Given the description of an element on the screen output the (x, y) to click on. 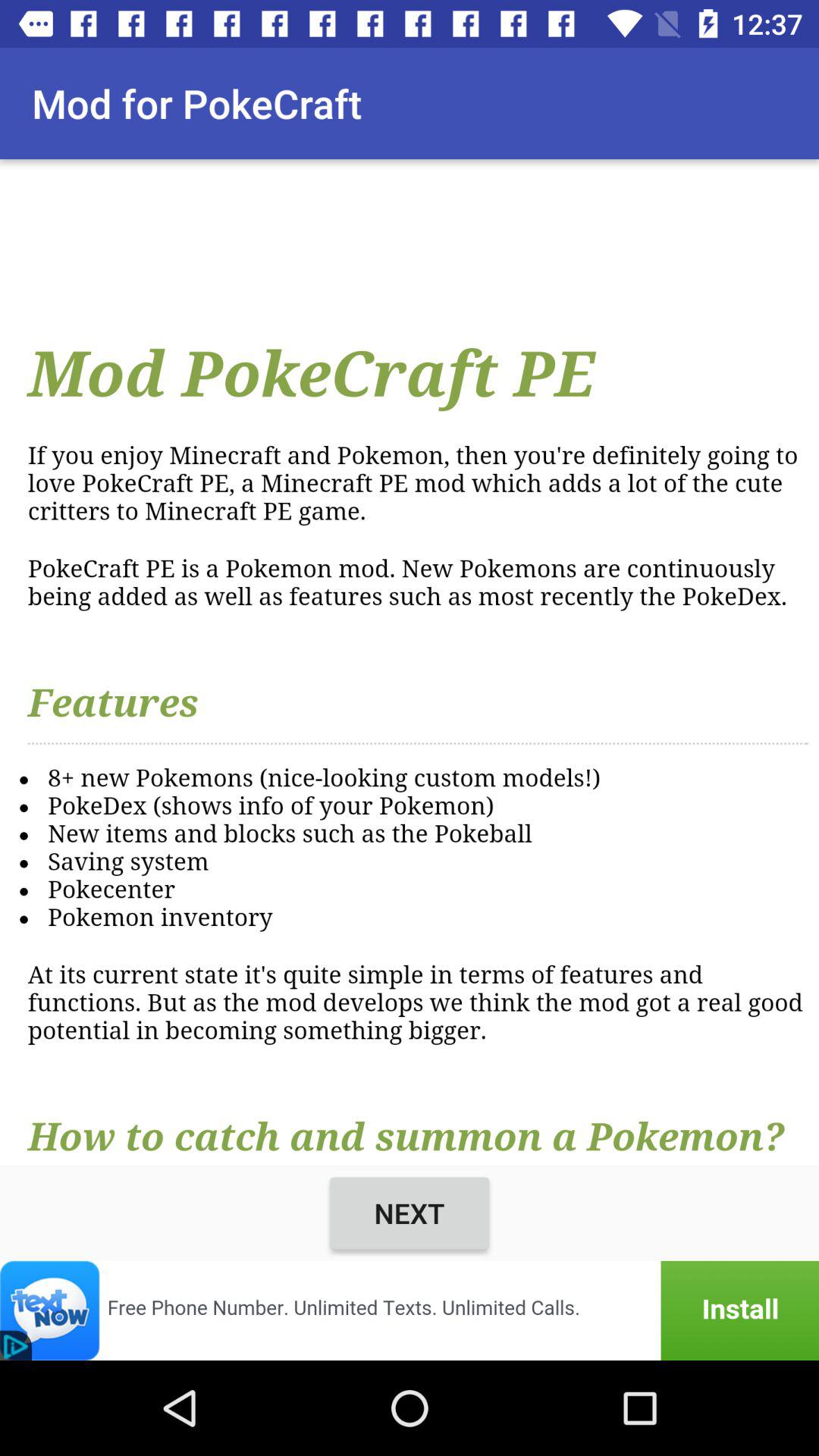
go to advertisement (409, 1310)
